Given the description of an element on the screen output the (x, y) to click on. 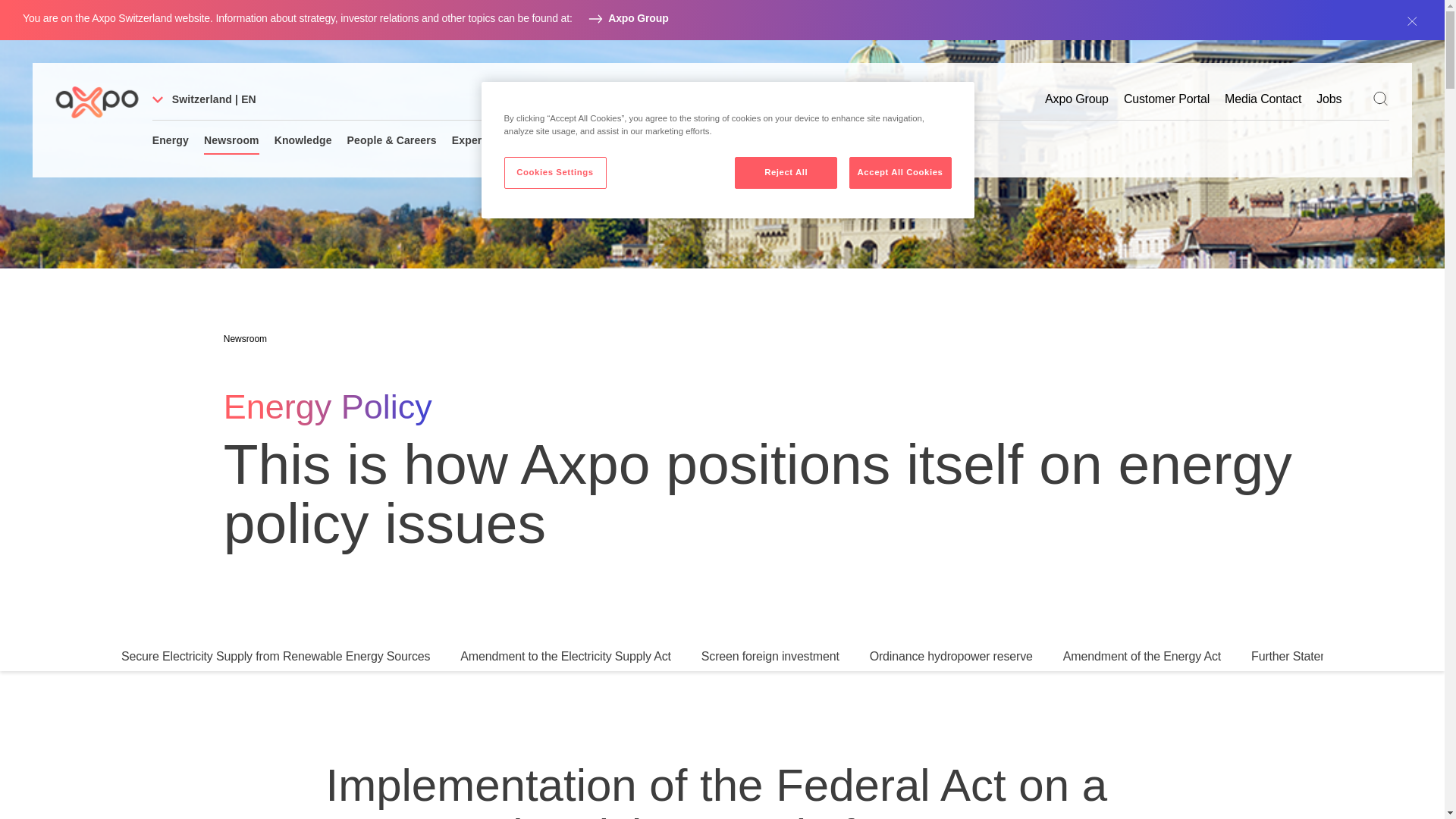
Knowledge (303, 140)
About Us (578, 140)
Customer Portal (1166, 99)
Experience Axpo (494, 140)
Newsroom (231, 140)
Jobs (1328, 99)
Media Contact (1262, 99)
Toggle Search Form (1380, 98)
Energy (170, 140)
Axpo Group (638, 18)
Axpo Group (1076, 99)
